Given the description of an element on the screen output the (x, y) to click on. 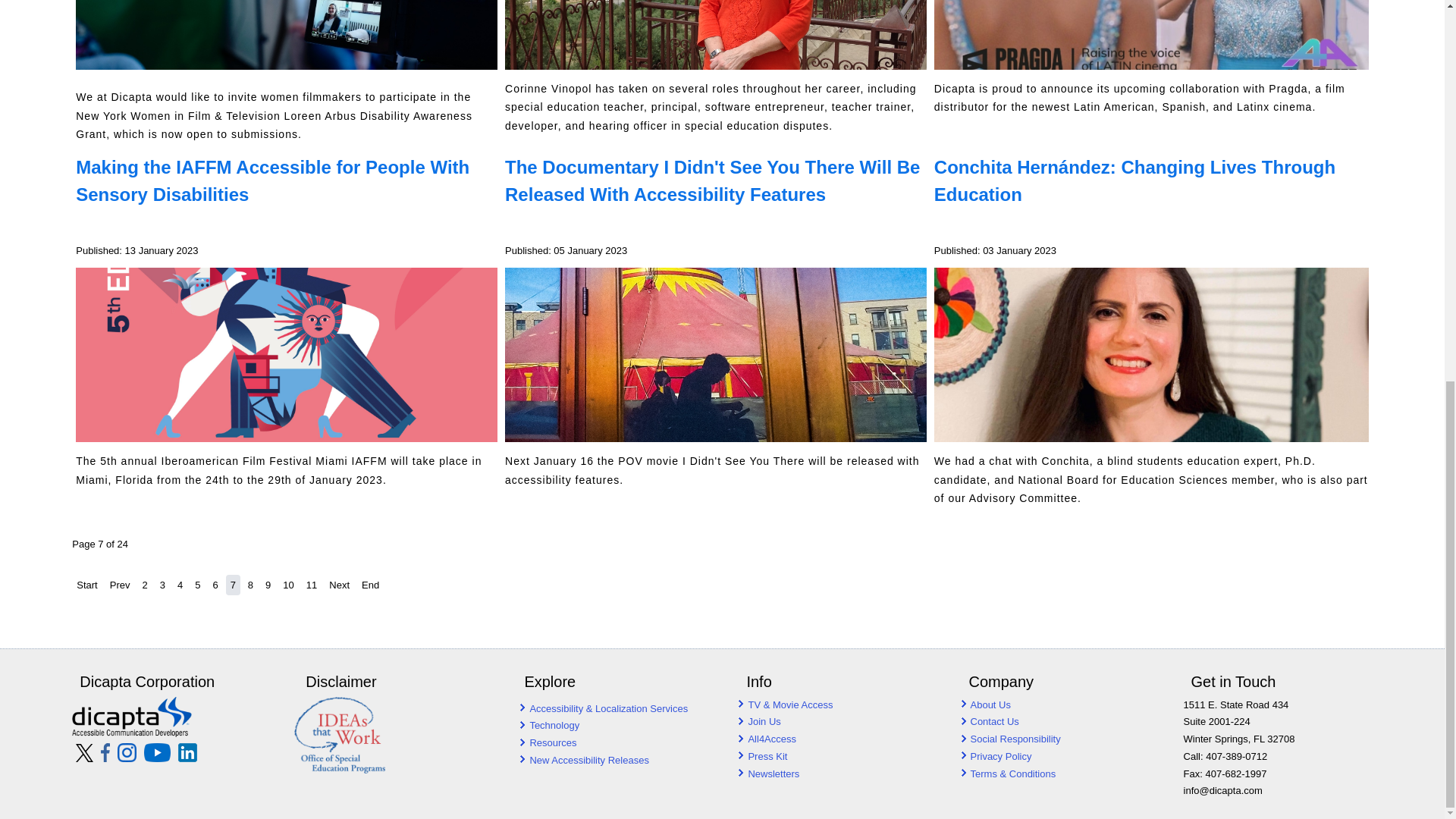
Prev (119, 584)
Start (86, 584)
Start (86, 584)
Next (338, 584)
End (370, 584)
Prev (119, 584)
